Given the description of an element on the screen output the (x, y) to click on. 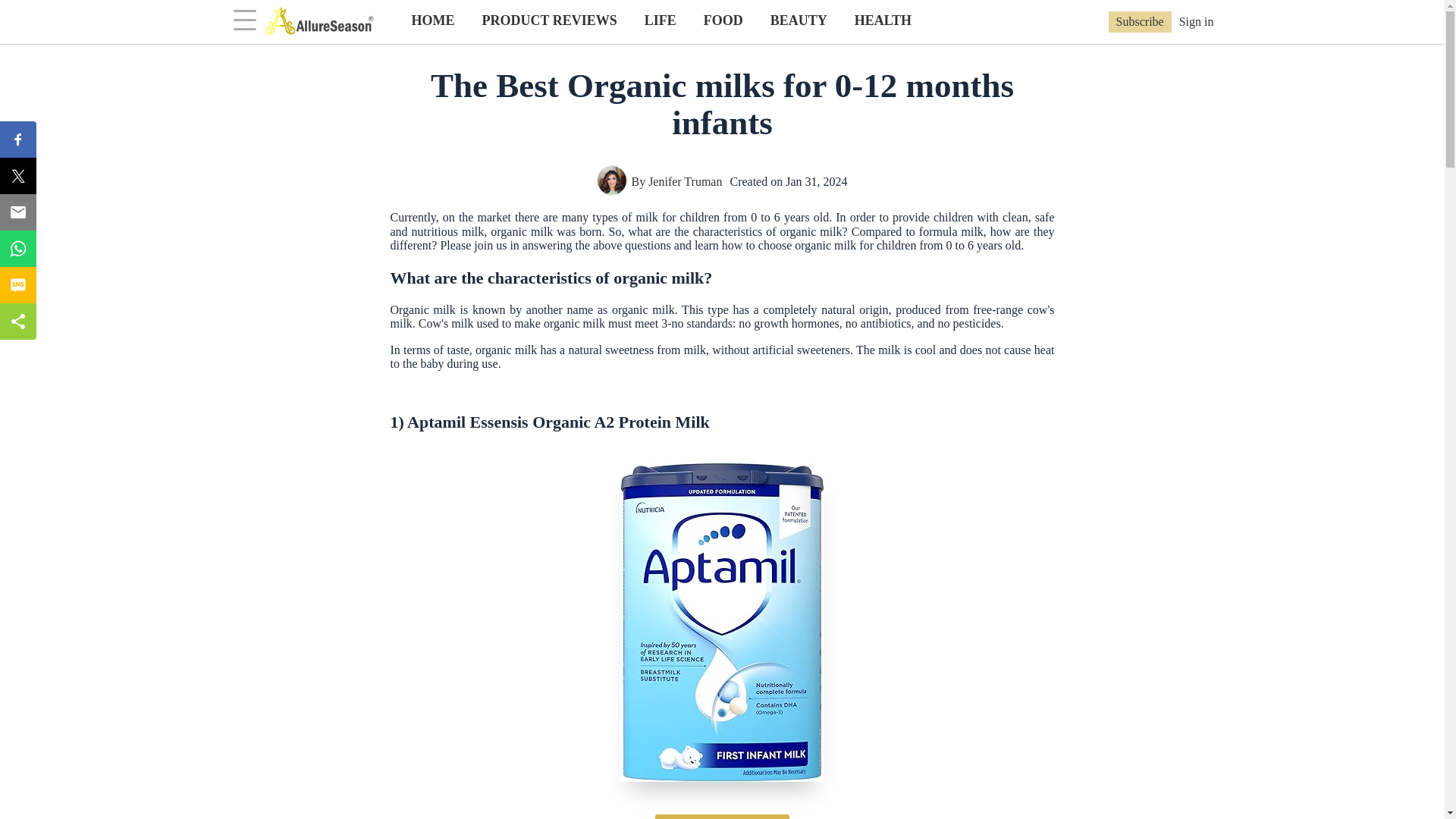
Buy from Amazon.com (722, 816)
FOOD (723, 20)
Subscribe (1140, 21)
Sign in (1196, 21)
By Jenifer Truman (659, 182)
LIFE (660, 20)
PRODUCT REVIEWS (549, 20)
BEAUTY (799, 20)
HEALTH (882, 20)
HOME (432, 20)
